Given the description of an element on the screen output the (x, y) to click on. 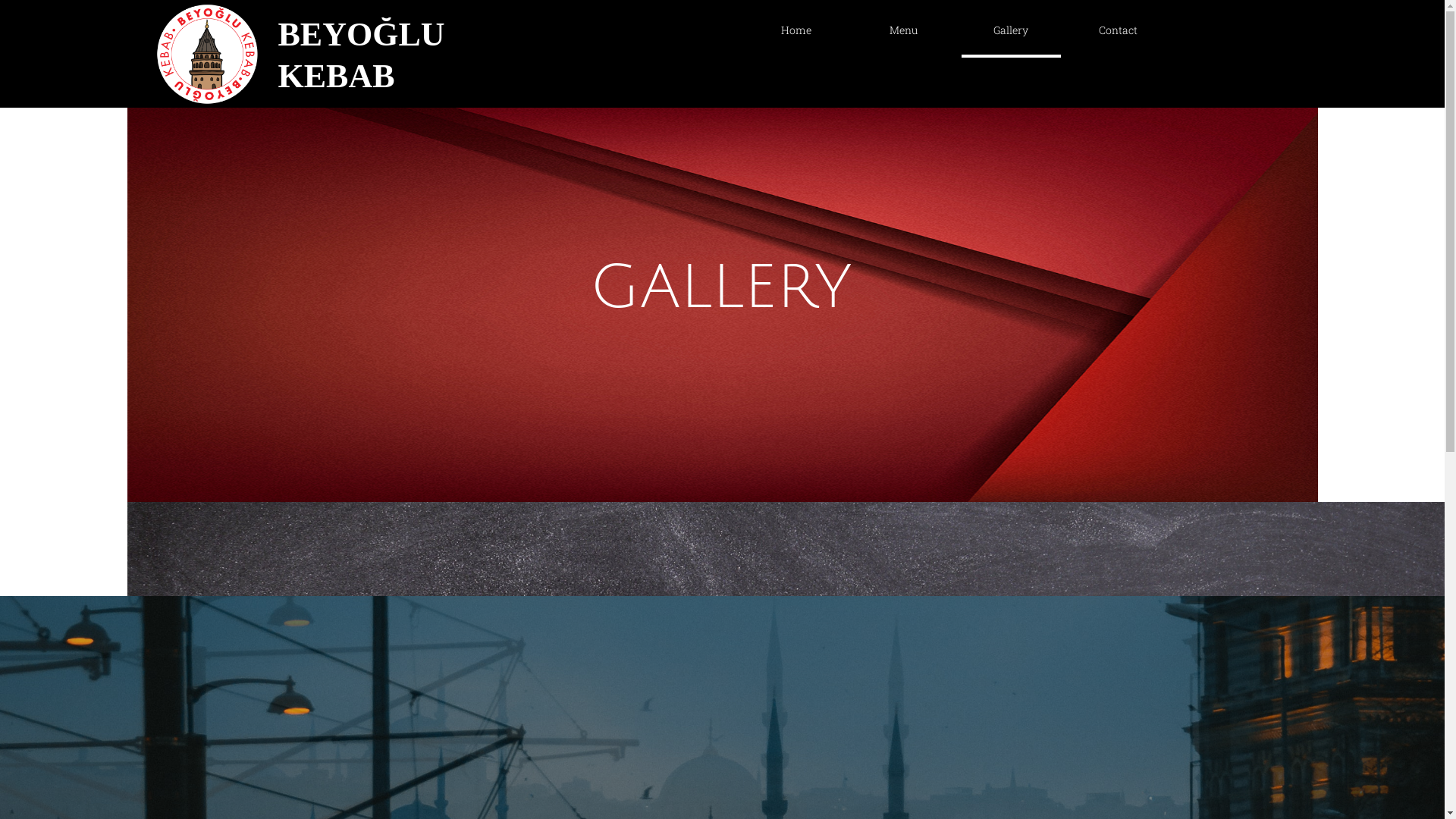
Contact Element type: text (961, 30)
Menu Element type: text (903, 29)
Gallery Element type: text (894, 30)
Gallery Element type: text (1011, 29)
Home Element type: text (772, 30)
Contact Element type: text (1118, 29)
Menu Element type: text (831, 30)
Home Element type: text (796, 29)
